Given the description of an element on the screen output the (x, y) to click on. 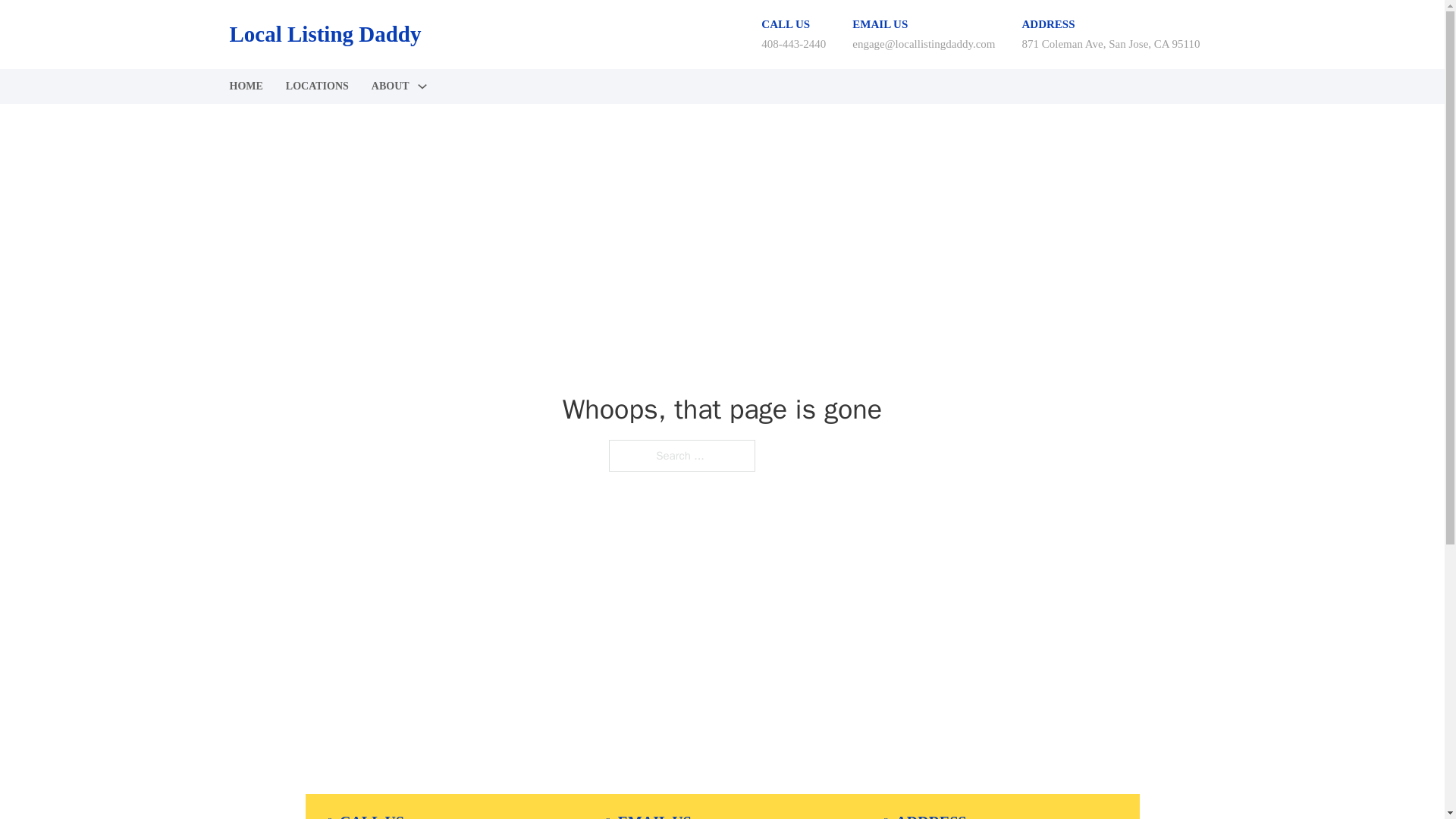
HOME (245, 85)
Local Listing Daddy (324, 34)
408-443-2440 (793, 43)
LOCATIONS (317, 85)
